Given the description of an element on the screen output the (x, y) to click on. 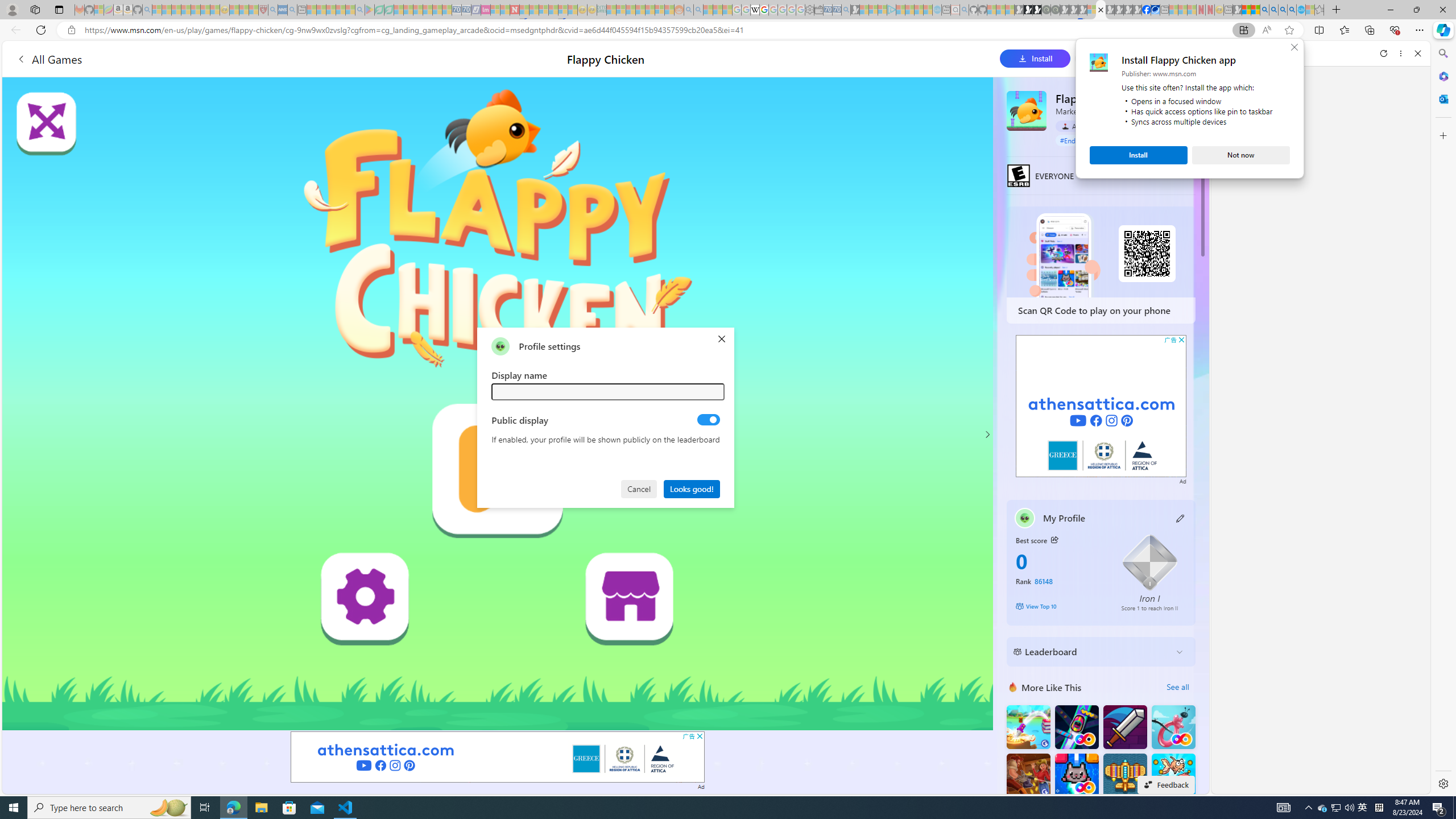
Show desktop (1454, 807)
User Promoted Notification Area (1336, 807)
github - Search - Sleeping (964, 9)
Not now (1241, 154)
Bing AI - Search (1264, 9)
Favorites - Sleeping (1318, 9)
Visual Studio Code - 1 running window (1362, 807)
AutomationID: canvas (345, 807)
